Given the description of an element on the screen output the (x, y) to click on. 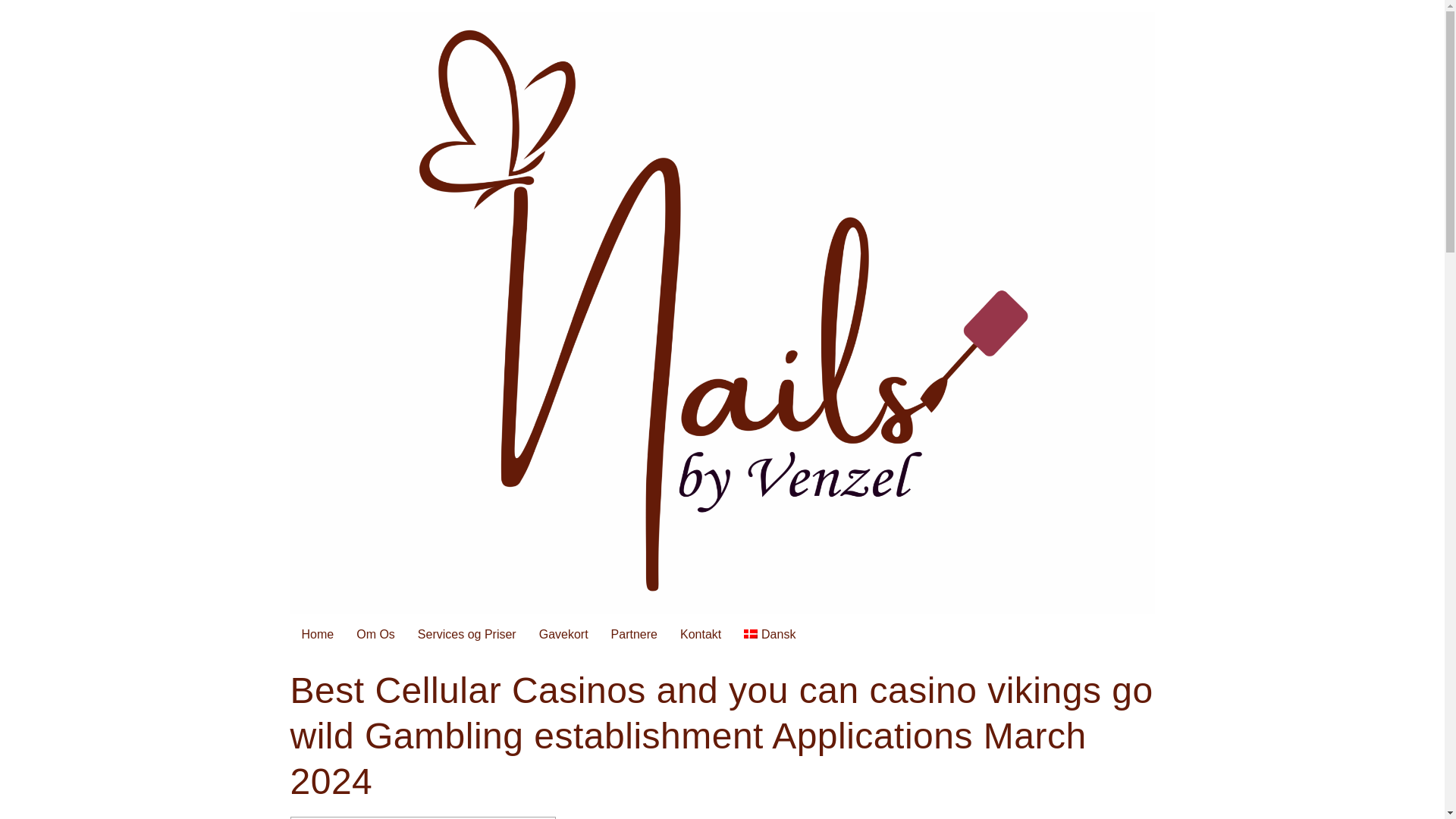
Dansk (769, 634)
Kontakt (700, 634)
Services og Priser (466, 634)
Dansk (769, 634)
Om Os (375, 634)
Home (317, 634)
Partnere (633, 634)
Gavekort (563, 634)
